Given the description of an element on the screen output the (x, y) to click on. 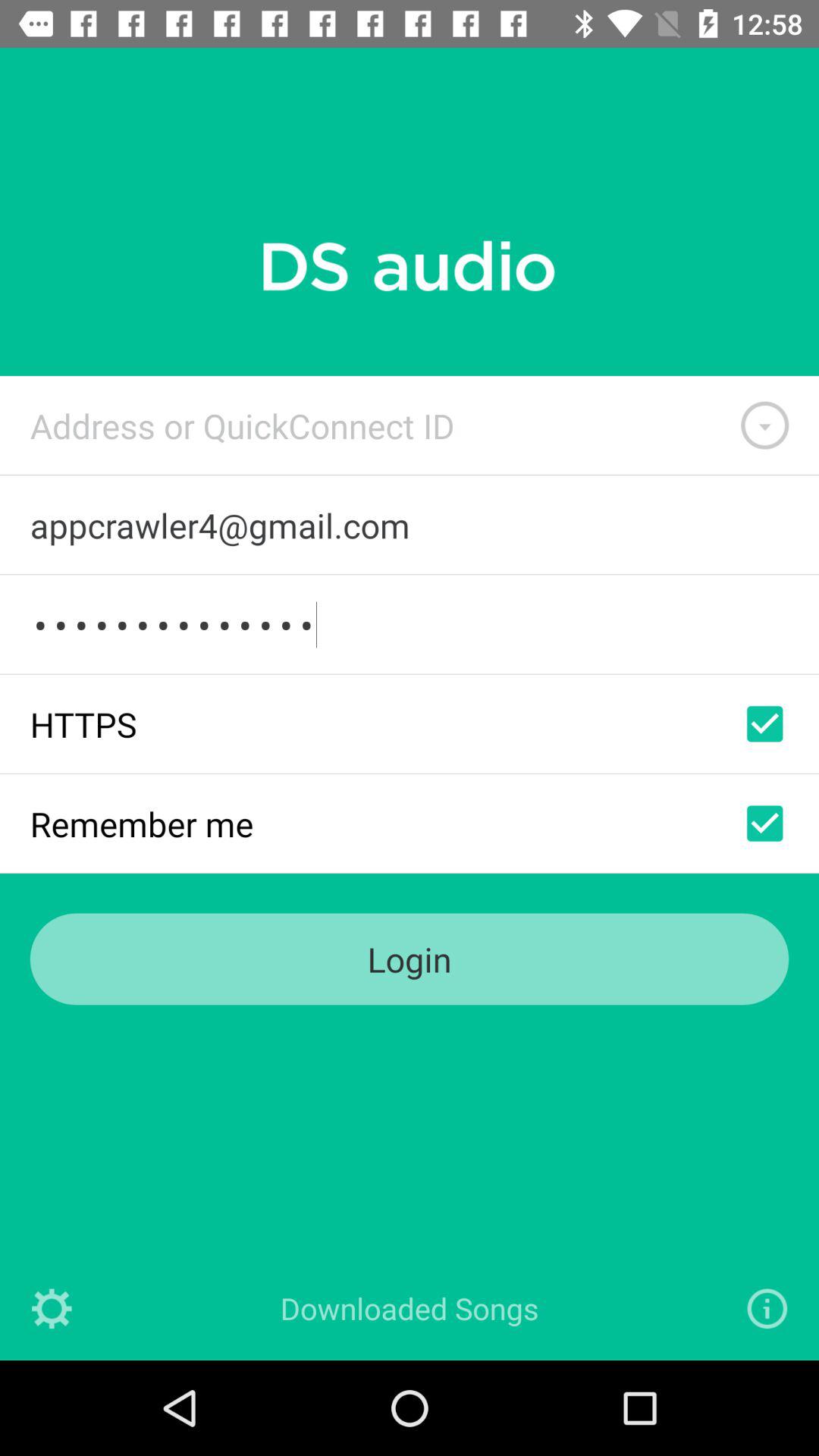
view list of addresses or ids (764, 425)
